Given the description of an element on the screen output the (x, y) to click on. 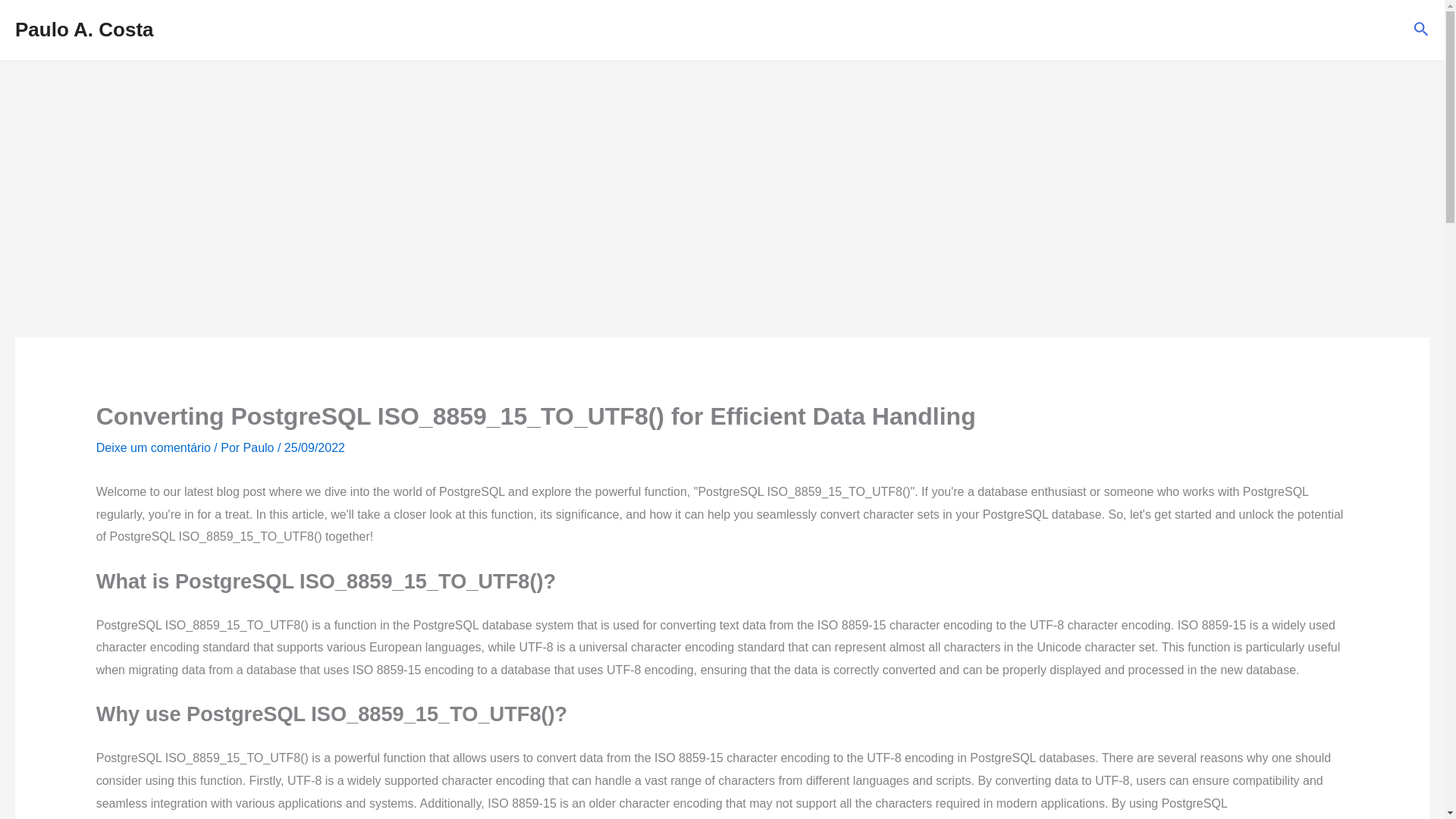
Paulo (260, 447)
Ver todos os posts de Paulo (260, 447)
Paulo A. Costa (84, 29)
